Given the description of an element on the screen output the (x, y) to click on. 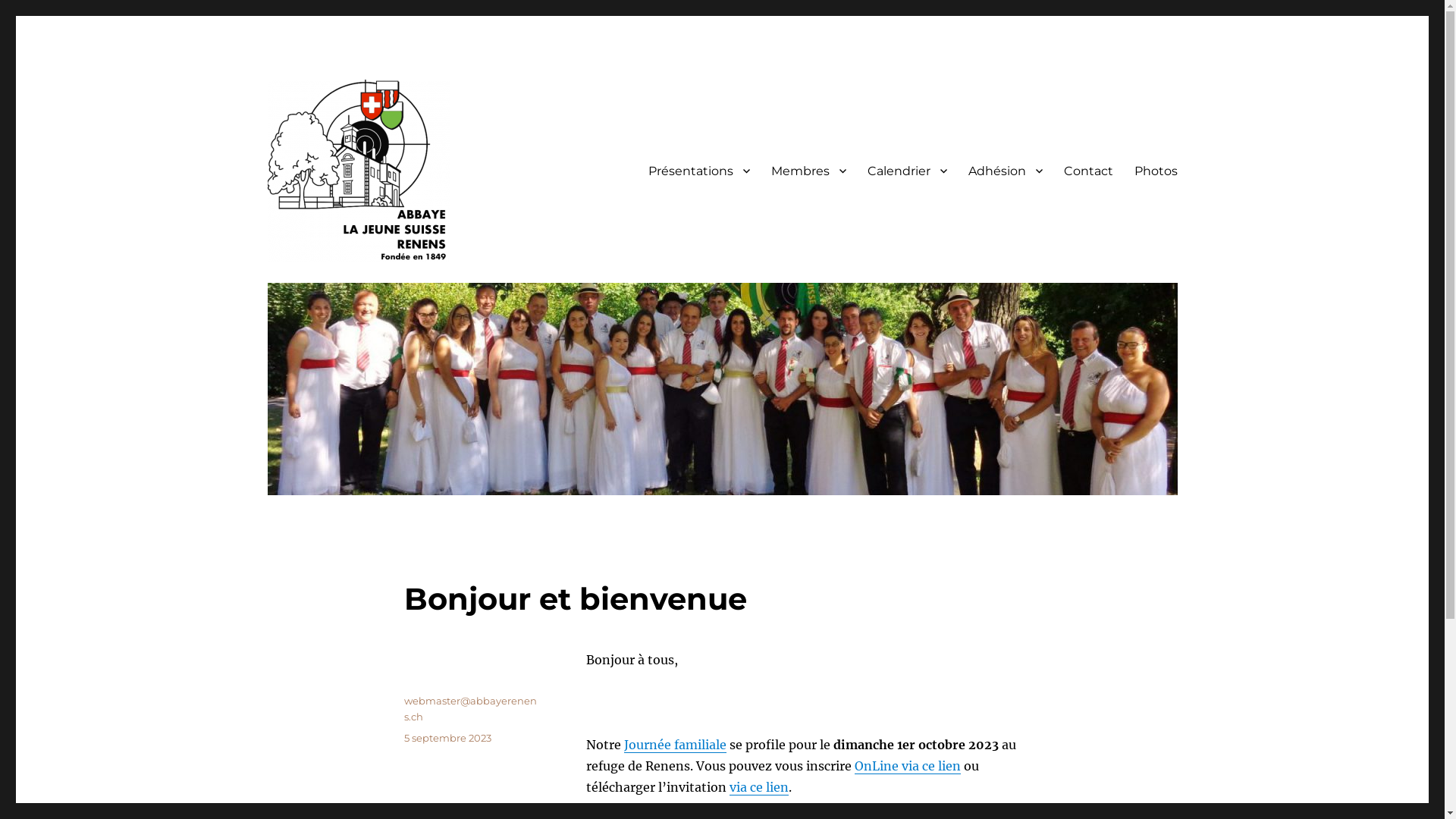
Calendrier Element type: text (906, 170)
Page 7 Element type: hover (812, 701)
5 septembre 2023 Element type: text (446, 737)
Photos Element type: text (1155, 170)
Page 7 Element type: hover (812, 723)
Abbaye de Renens "La Jeune Suisse" Element type: text (470, 285)
Contact Element type: text (1087, 170)
webmaster@abbayerenens.ch Element type: text (469, 708)
via ce lien Element type: text (758, 786)
OnLine via ce lien Element type: text (906, 765)
Membres Element type: text (807, 170)
